Given the description of an element on the screen output the (x, y) to click on. 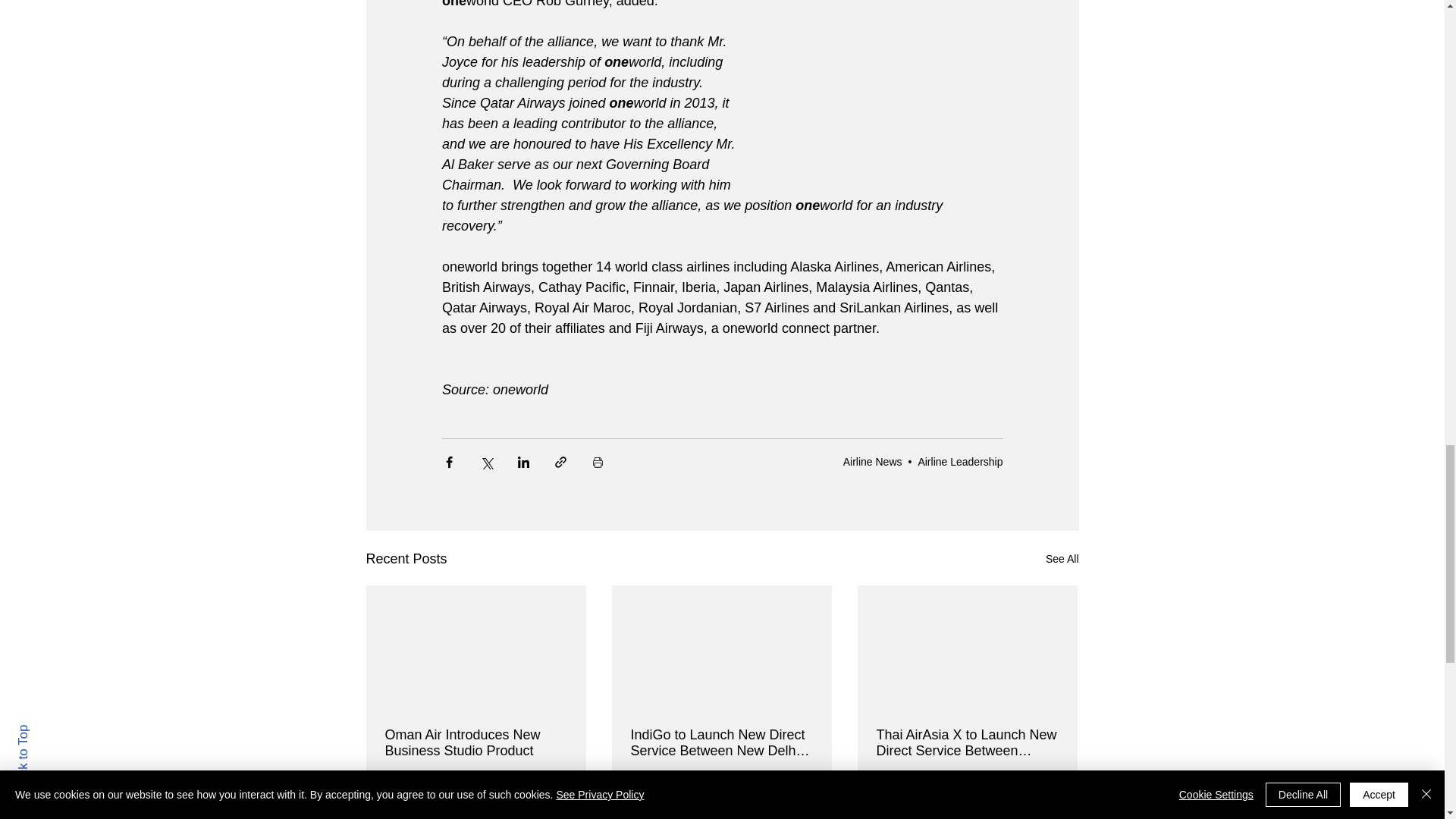
See All (1061, 558)
Oman Air Introduces New Business Studio Product (476, 743)
Airline News (872, 460)
Breit (395, 817)
Airline Leadership (960, 460)
